Given the description of an element on the screen output the (x, y) to click on. 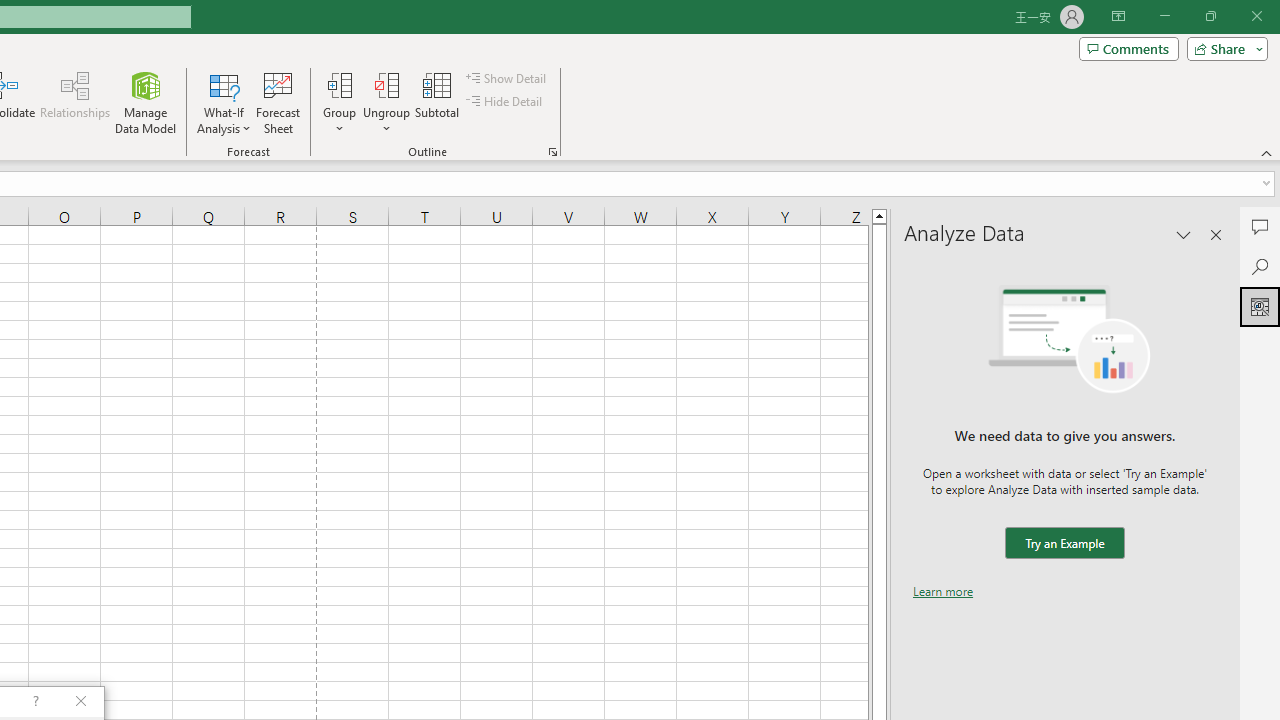
Line up (879, 215)
Close pane (1215, 234)
Show Detail (507, 78)
Restore Down (1210, 16)
Comments (1260, 226)
More Options (386, 121)
Minimize (1164, 16)
Hide Detail (505, 101)
Ungroup... (386, 84)
Group... (339, 102)
Comments (1128, 48)
Ungroup... (386, 102)
Share (1223, 48)
